Given the description of an element on the screen output the (x, y) to click on. 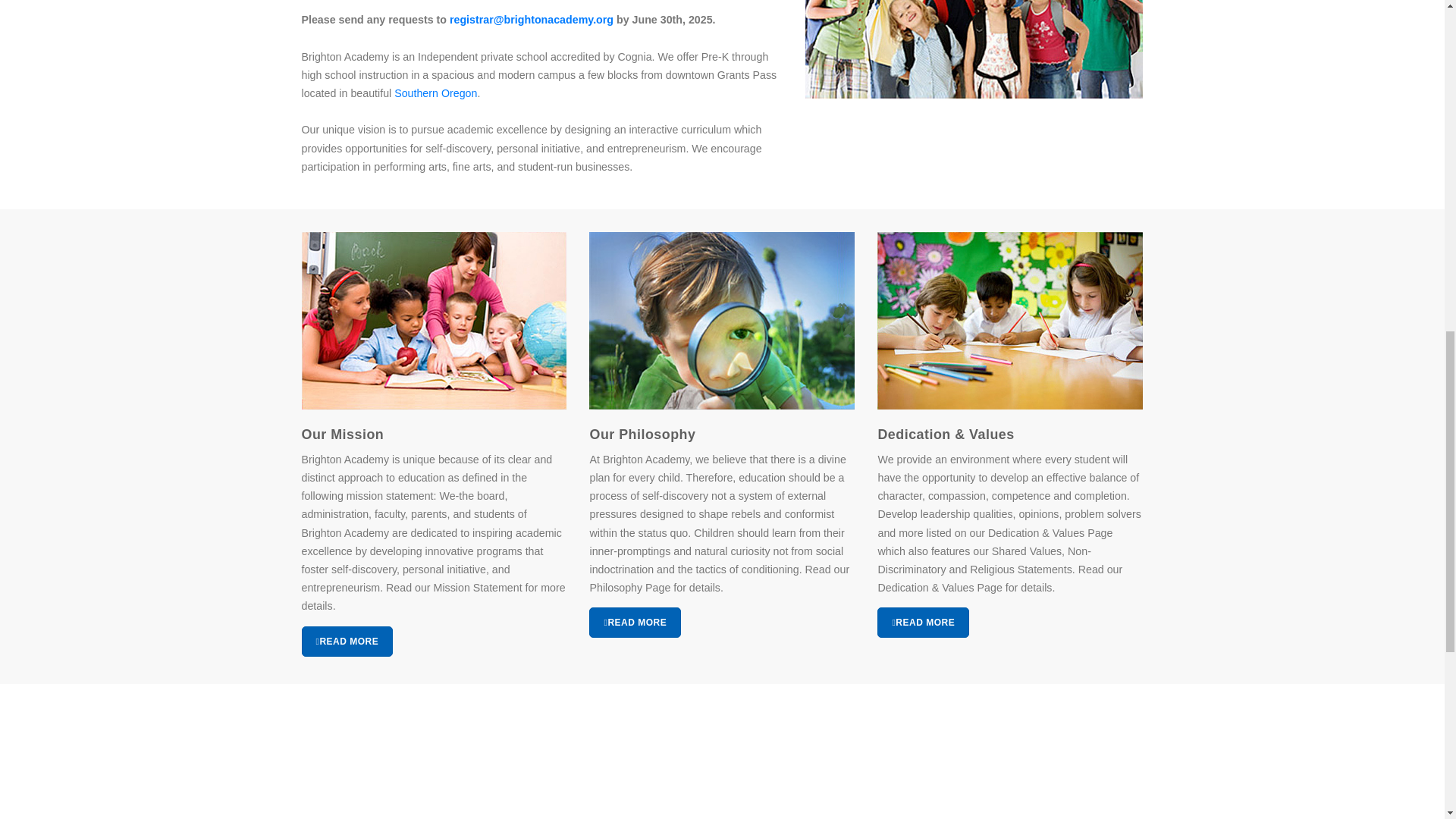
Southern Oregon (435, 92)
